Given the description of an element on the screen output the (x, y) to click on. 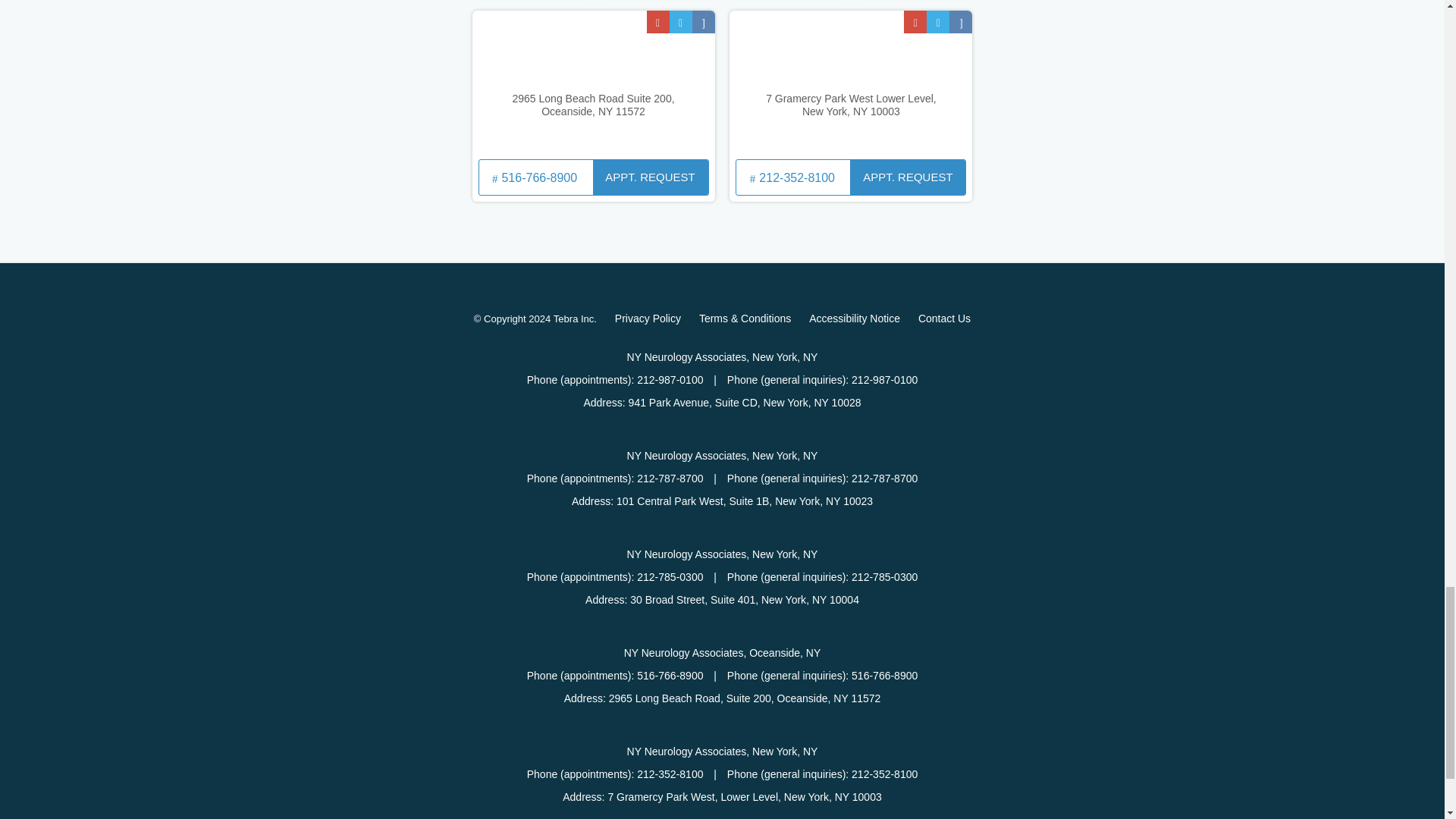
Map of Long Island (592, 82)
Map of Gramercy Park (850, 82)
